Given the description of an element on the screen output the (x, y) to click on. 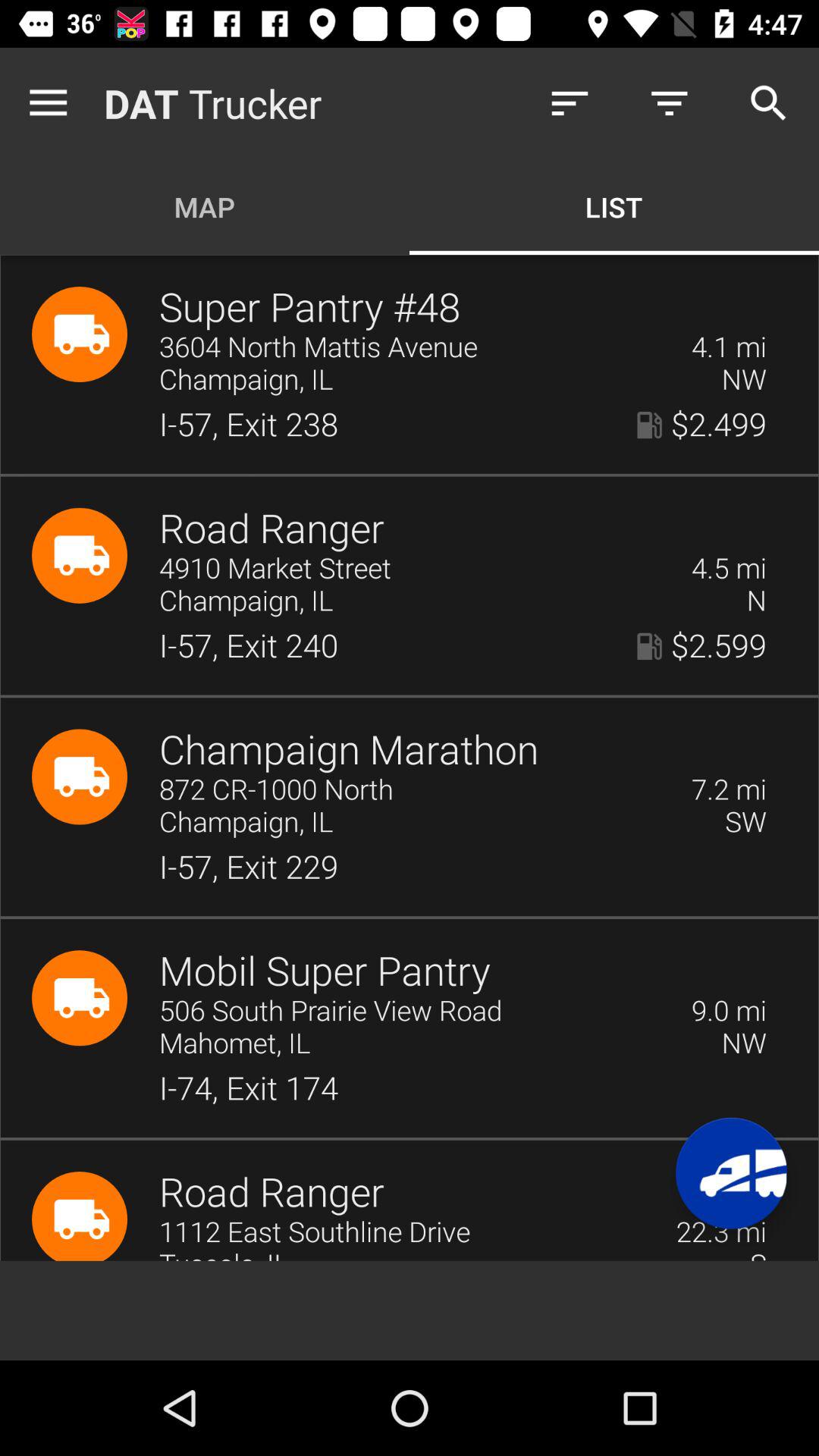
swipe to 22.3 mi icon (721, 1232)
